Given the description of an element on the screen output the (x, y) to click on. 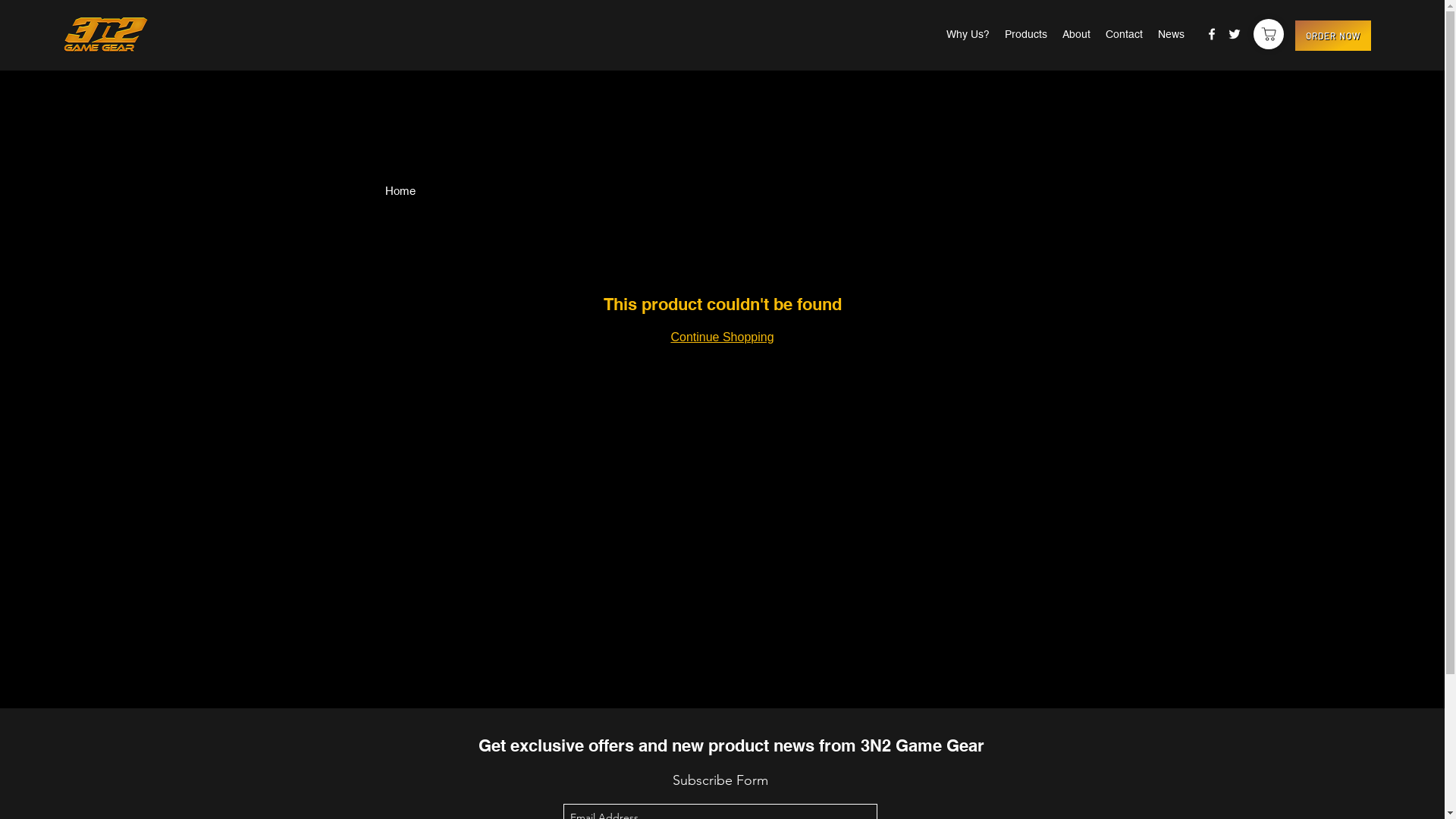
Contact Element type: text (1124, 33)
Why Us? Element type: text (967, 33)
News Element type: text (1171, 33)
Products Element type: text (1025, 33)
About Element type: text (1076, 33)
Continue Shopping Element type: text (721, 336)
ORDER NOW Element type: text (1333, 35)
Home Element type: text (400, 190)
